Given the description of an element on the screen output the (x, y) to click on. 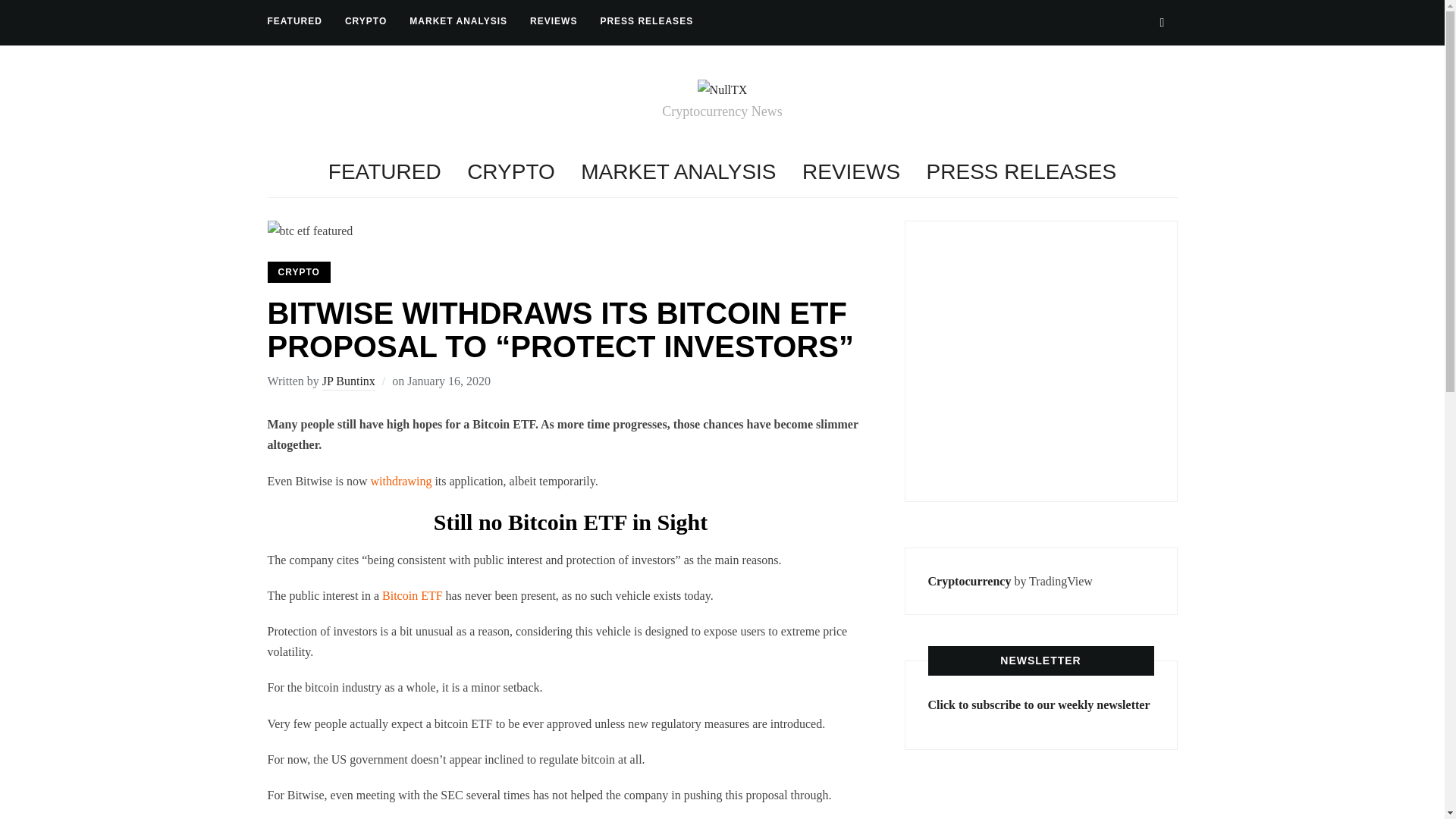
PRESS RELEASES (646, 21)
CRYPTO (366, 21)
Click to subscribe to our weekly newsletter (1039, 704)
PRESS RELEASES (1021, 171)
CRYPTO (298, 271)
withdrawing (401, 481)
MARKET ANALYSIS (678, 171)
REVIEWS (552, 21)
Cryptocurrency (969, 581)
MARKET ANALYSIS (457, 21)
JP Buntinx (348, 382)
REVIEWS (850, 171)
FEATURED (293, 21)
Bitcoin ETF (410, 594)
Search (1161, 22)
